Given the description of an element on the screen output the (x, y) to click on. 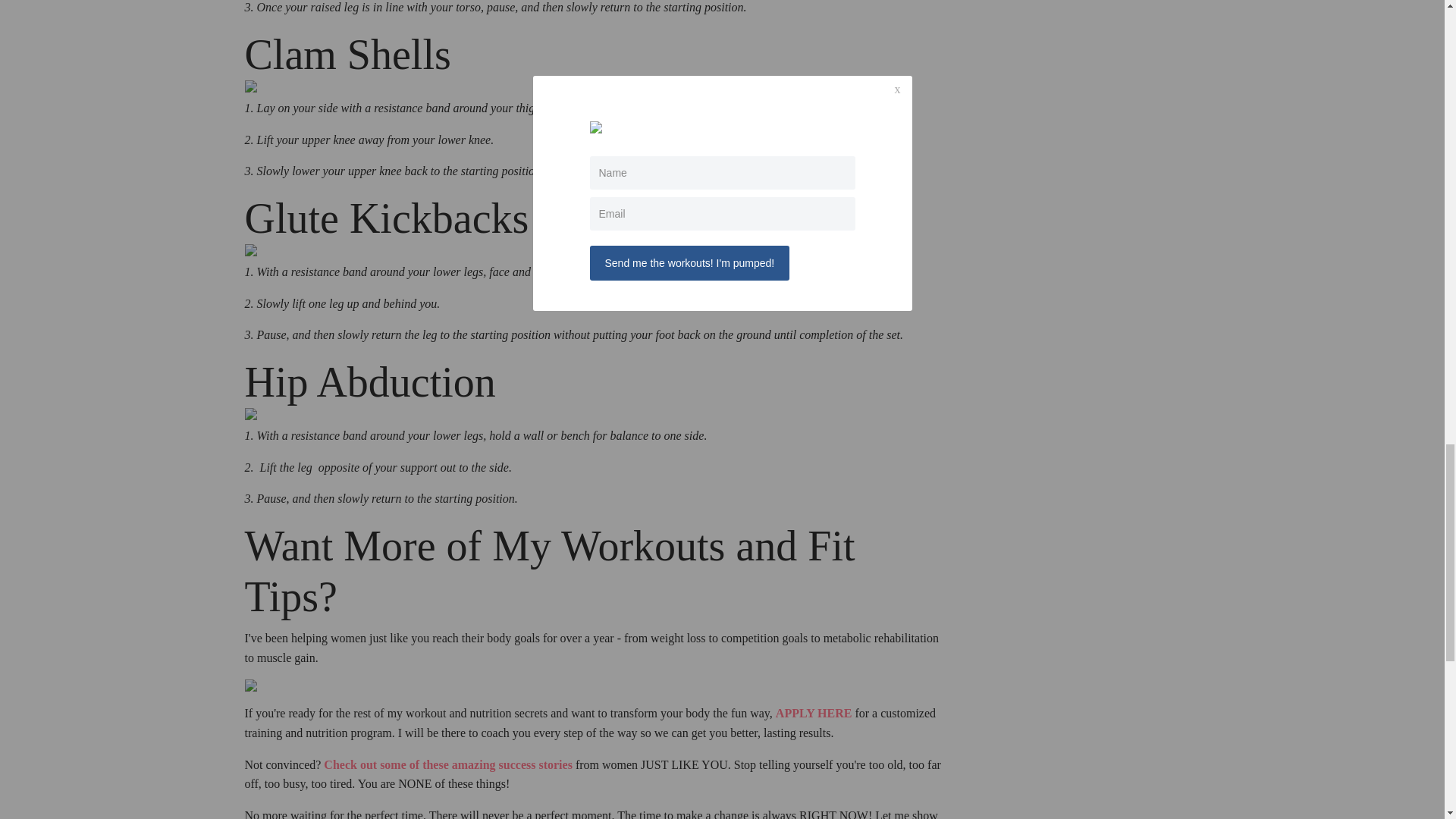
APPLY HERE (813, 712)
Check out some of these amazing success stories (447, 764)
Client Success Stories (447, 764)
